Given the description of an element on the screen output the (x, y) to click on. 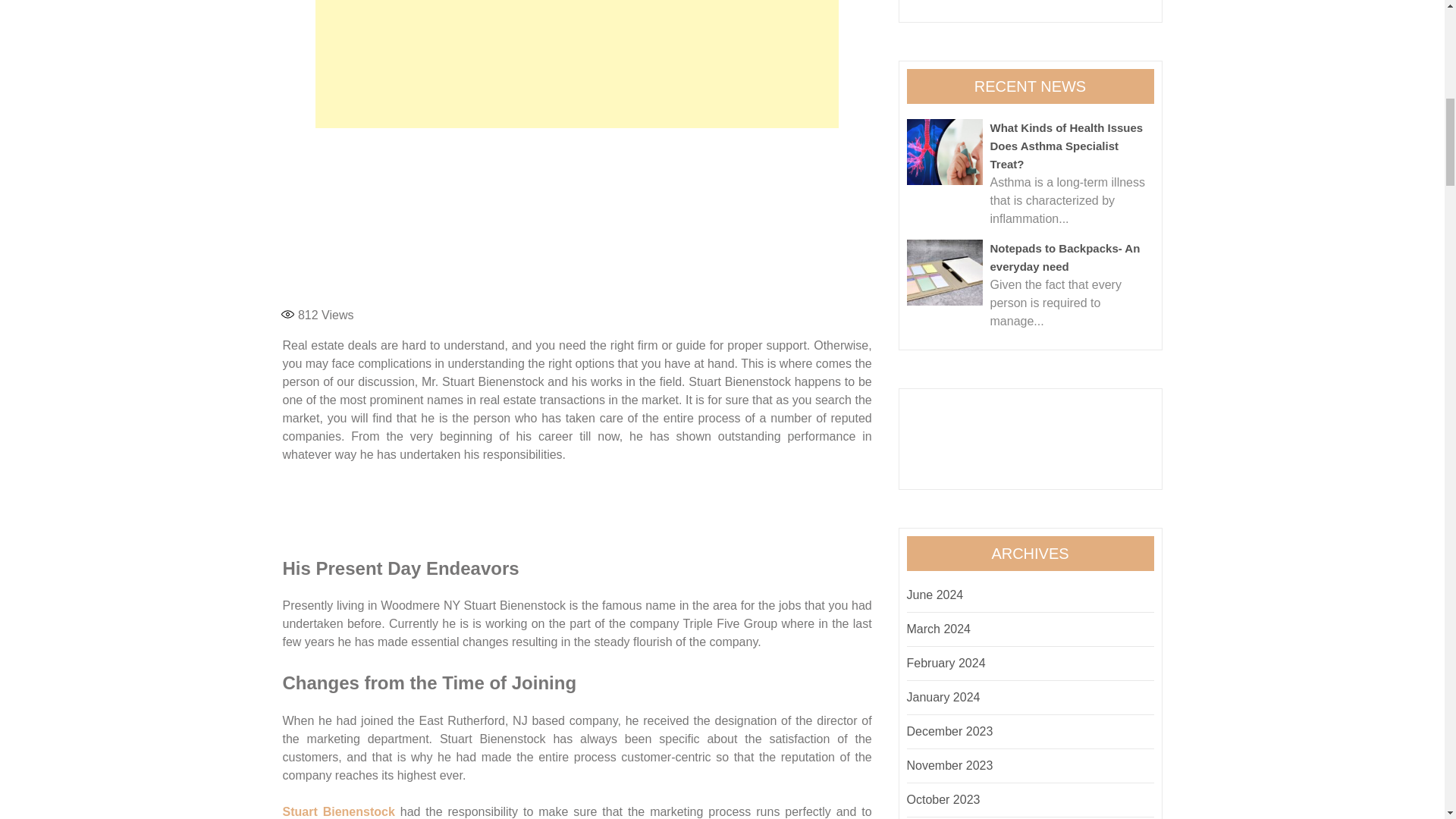
December 2023 (949, 730)
Stuart Bienenstock (338, 811)
What Kinds of Health Issues Does Asthma Specialist Treat? (944, 151)
February 2024 (946, 662)
Notepads to Backpacks- An everyday need (1065, 256)
January 2024 (943, 697)
What Kinds of Health Issues Does Asthma Specialist Treat? (1066, 145)
Notepads to Backpacks- An everyday need (944, 272)
Advertisement (576, 216)
March 2024 (939, 628)
October 2023 (943, 799)
June 2024 (935, 594)
November 2023 (949, 765)
